Given the description of an element on the screen output the (x, y) to click on. 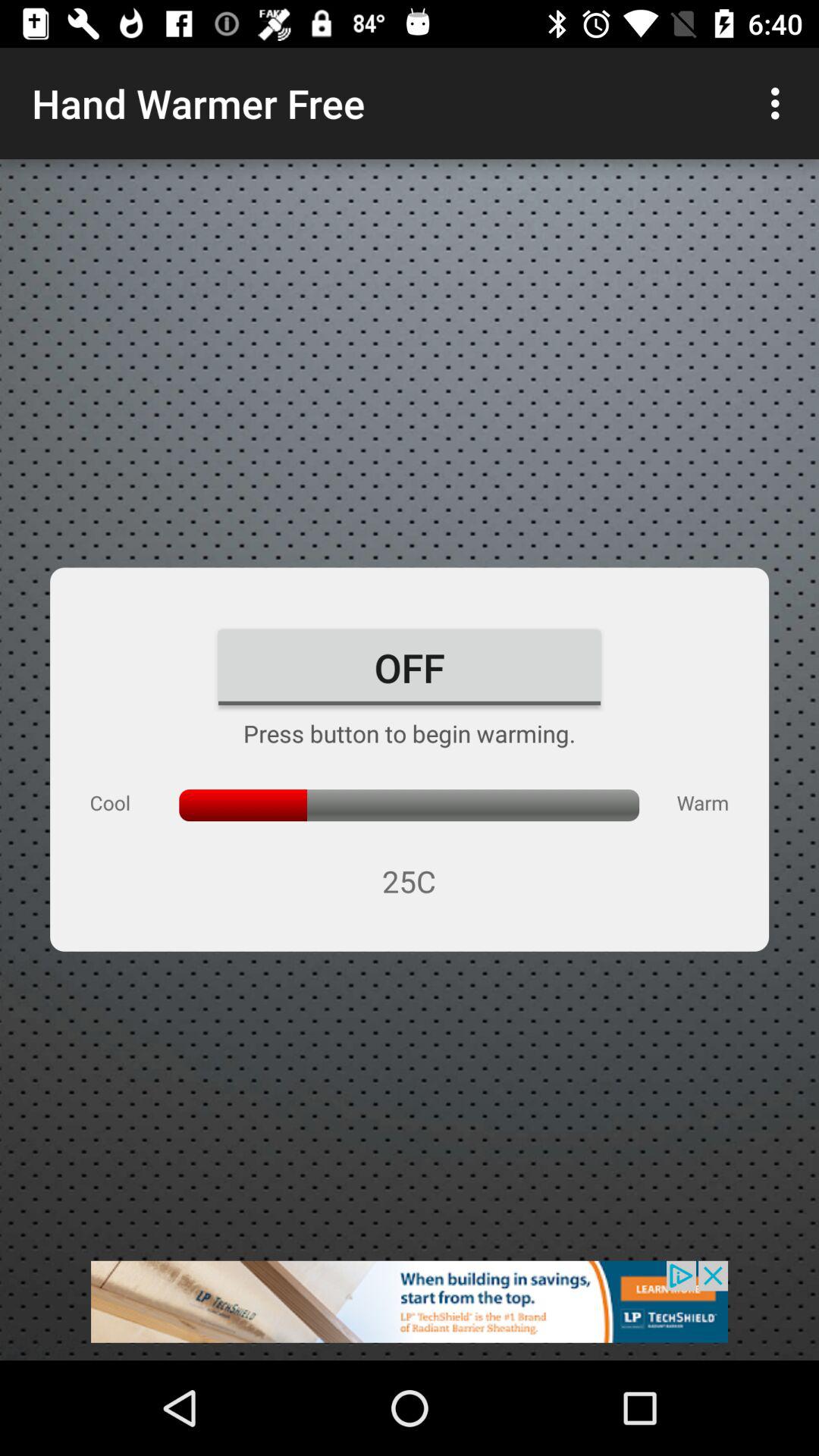
click on the banner (409, 1310)
